Given the description of an element on the screen output the (x, y) to click on. 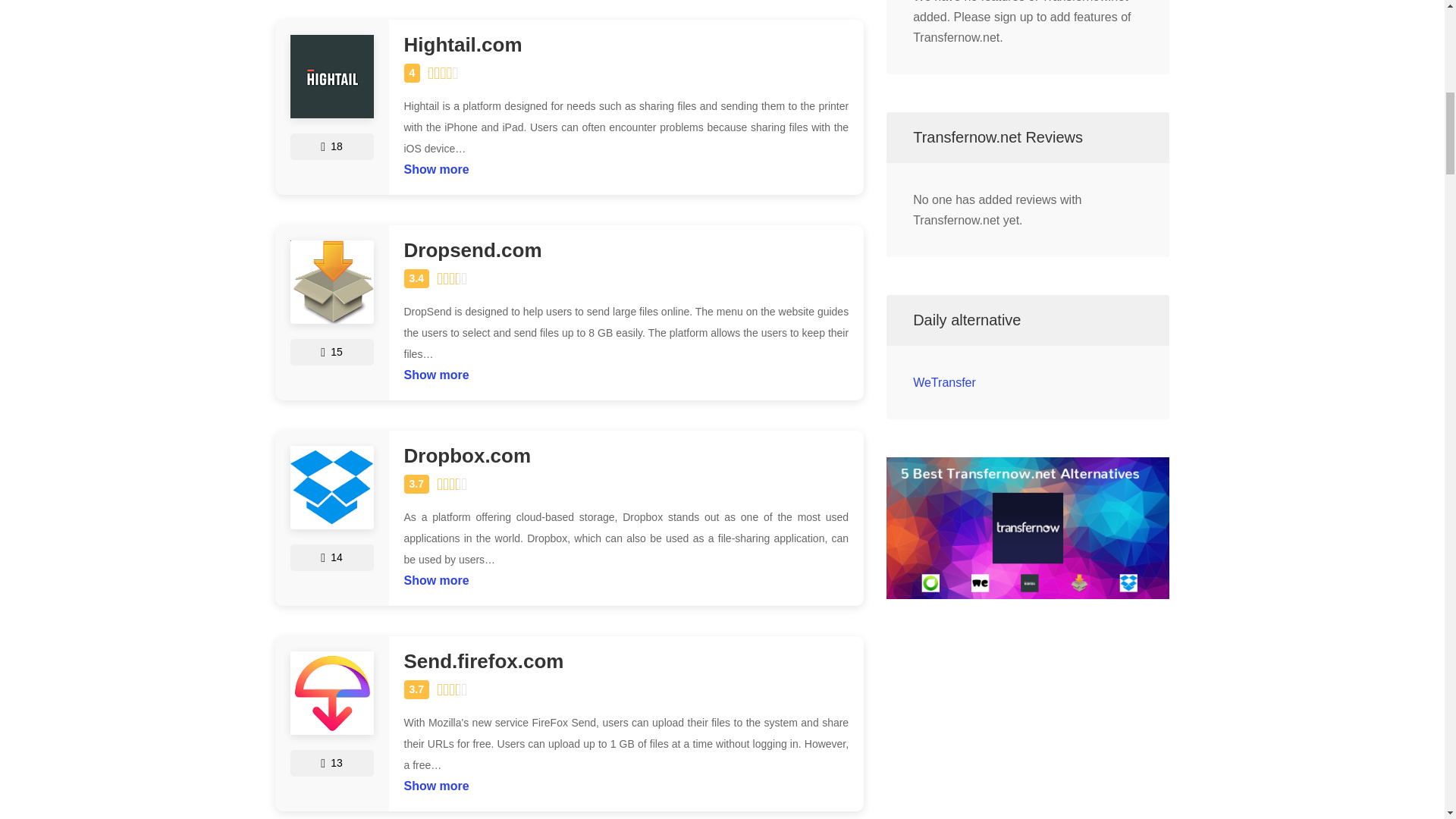
Show more (435, 576)
Hightail.com (625, 45)
Show more (435, 371)
Send.firefox.com (625, 661)
WeTransfer (943, 382)
Dropbox.com (625, 455)
Show more (435, 782)
Dropsend.com (625, 250)
Show more (435, 165)
